Given the description of an element on the screen output the (x, y) to click on. 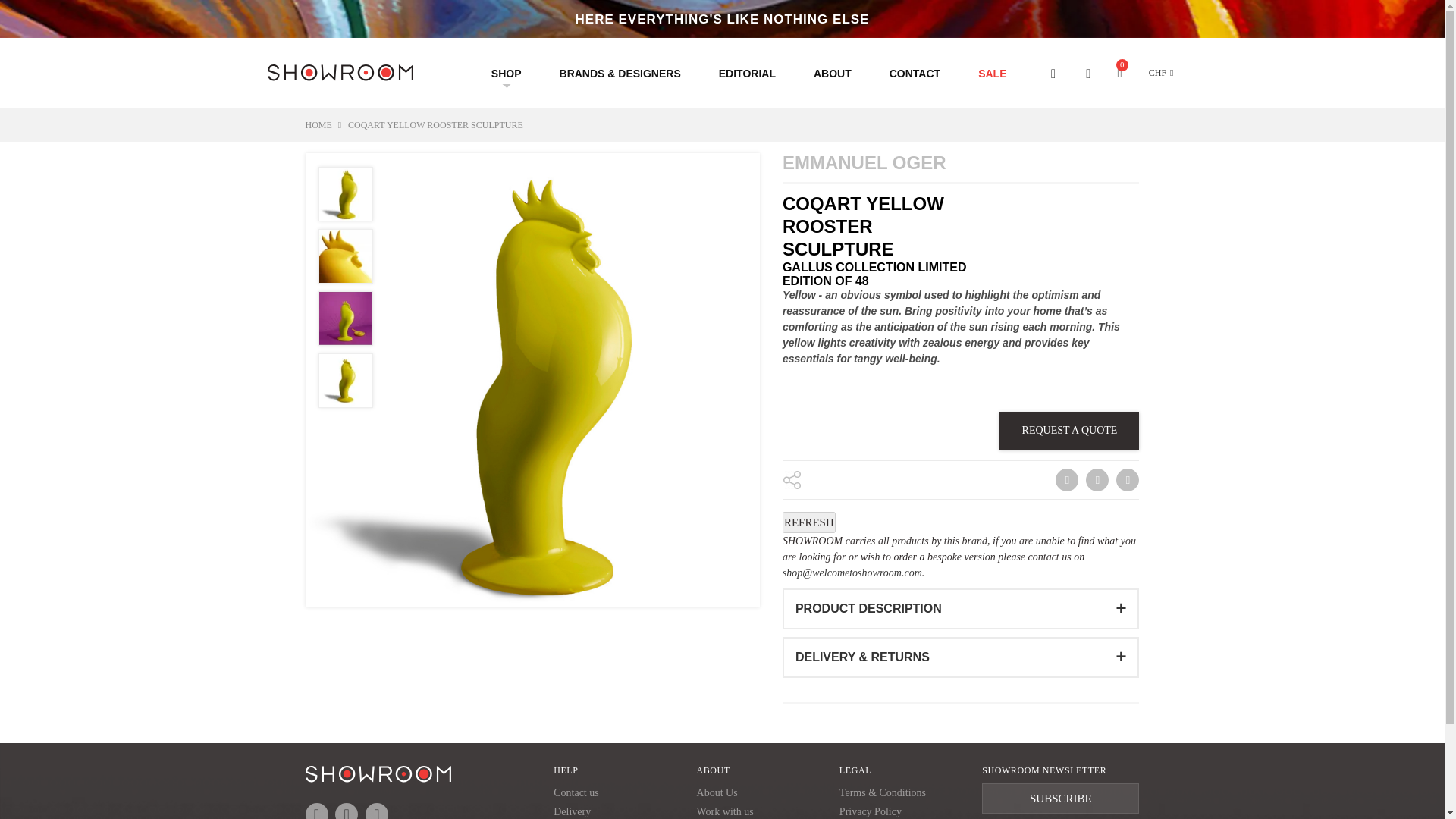
Tweet (1096, 479)
Refresh (809, 522)
Share (1065, 479)
Pinterest (1126, 479)
SHOWROOM (339, 77)
